Given the description of an element on the screen output the (x, y) to click on. 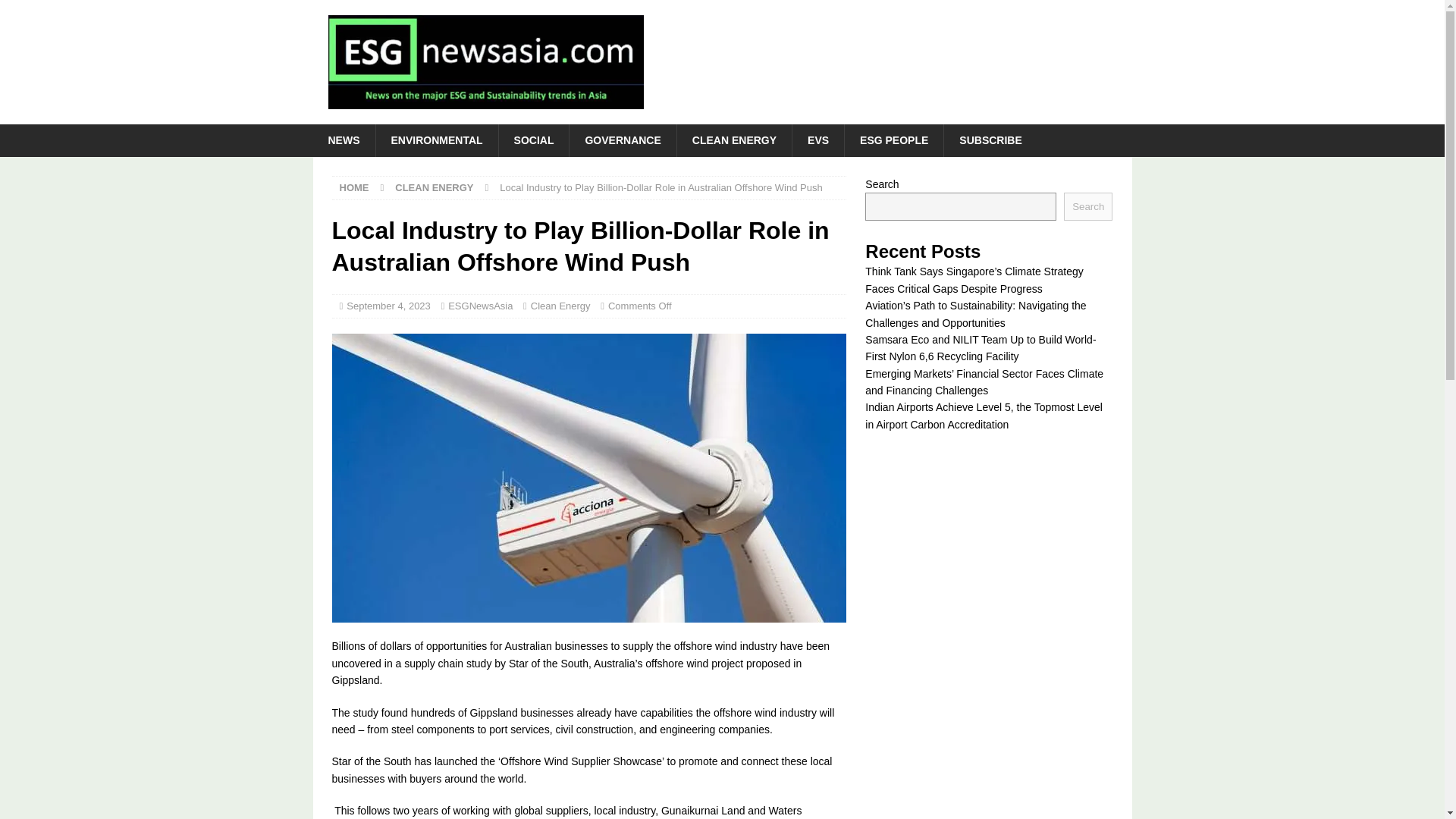
NEWS (343, 140)
CLEAN ENERGY (734, 140)
EVS (818, 140)
Clean Energy (561, 306)
SUBSCRIBE (989, 140)
CLEAN ENERGY (433, 187)
ENVIRONMENTAL (435, 140)
GOVERNANCE (622, 140)
HOME (354, 187)
SOCIAL (533, 140)
